Given the description of an element on the screen output the (x, y) to click on. 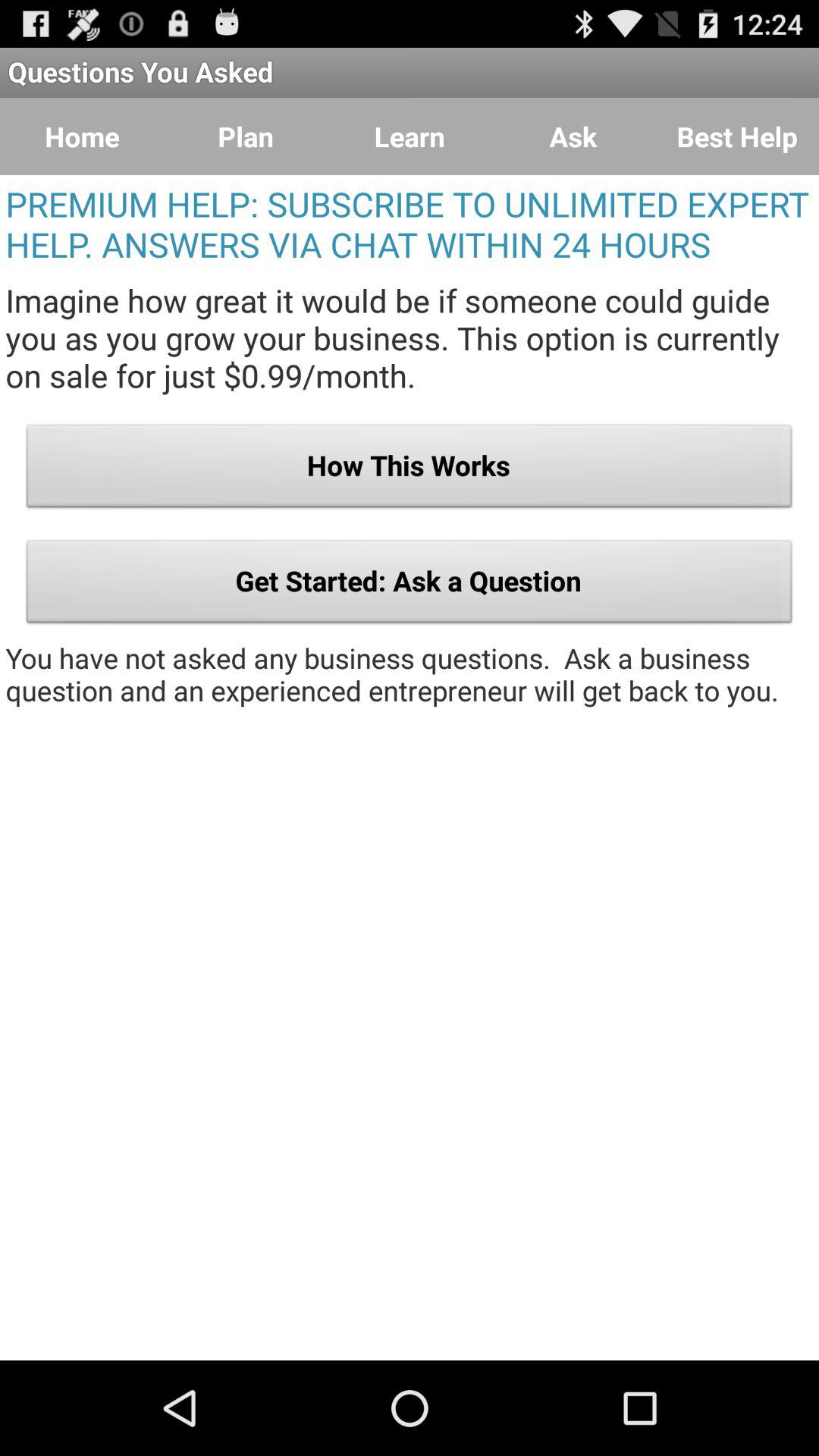
jump to get started ask item (409, 585)
